Given the description of an element on the screen output the (x, y) to click on. 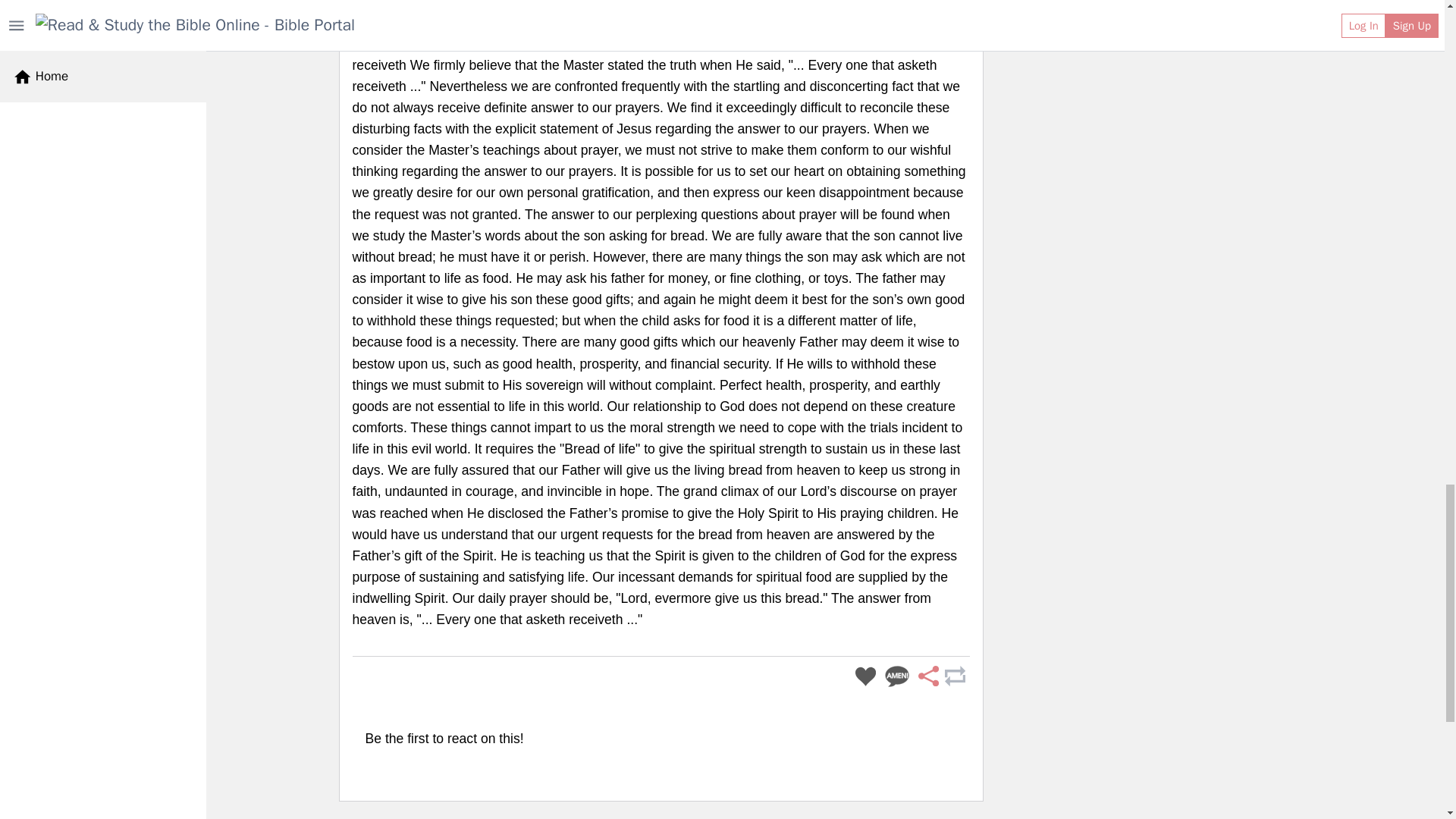
Like (865, 676)
Repost (954, 676)
Amen (897, 676)
